Given the description of an element on the screen output the (x, y) to click on. 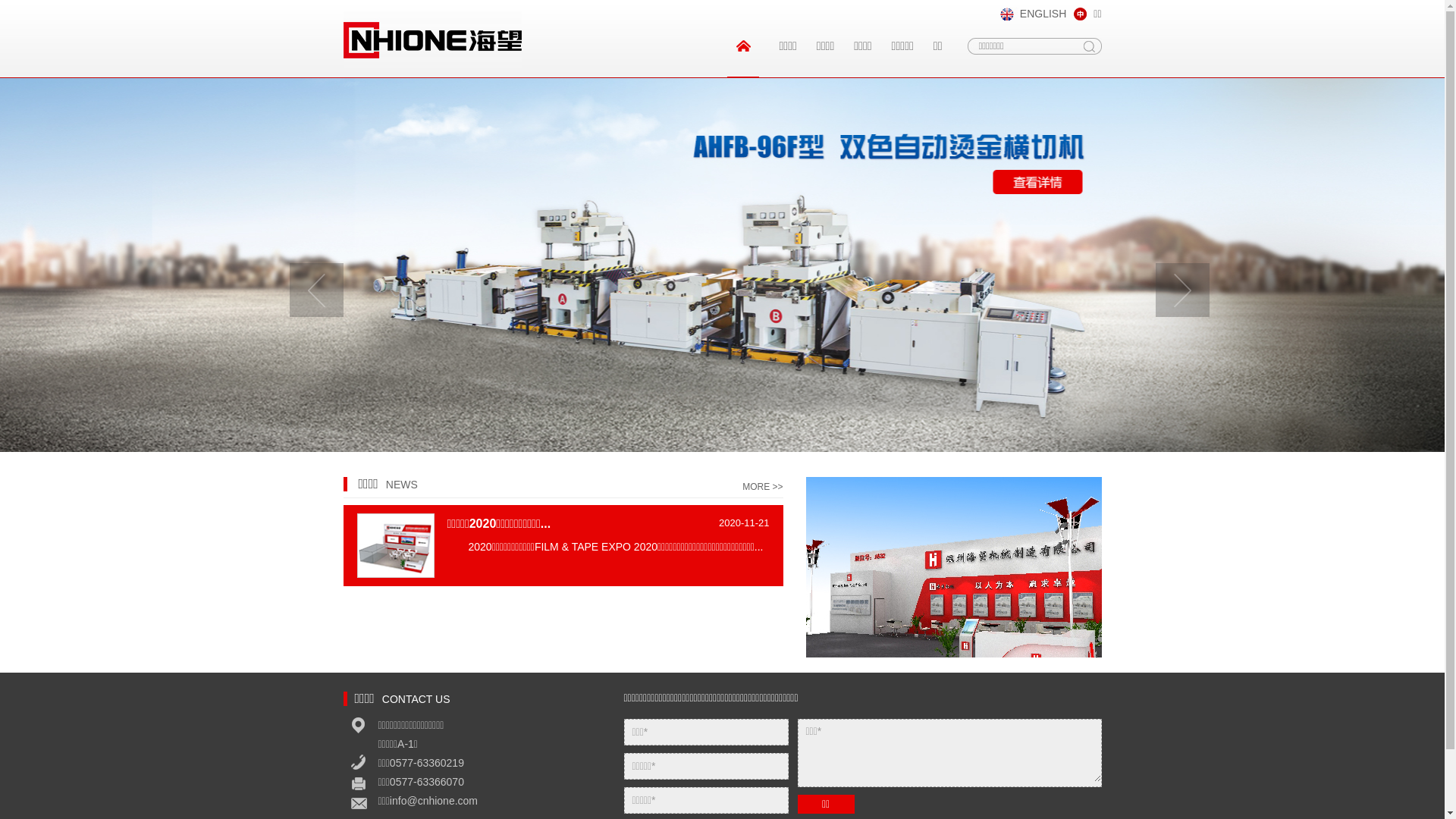
info@cnhione.com Element type: text (433, 800)
MORE >> Element type: text (762, 486)
ENGLISH Element type: text (1033, 13)
